Given the description of an element on the screen output the (x, y) to click on. 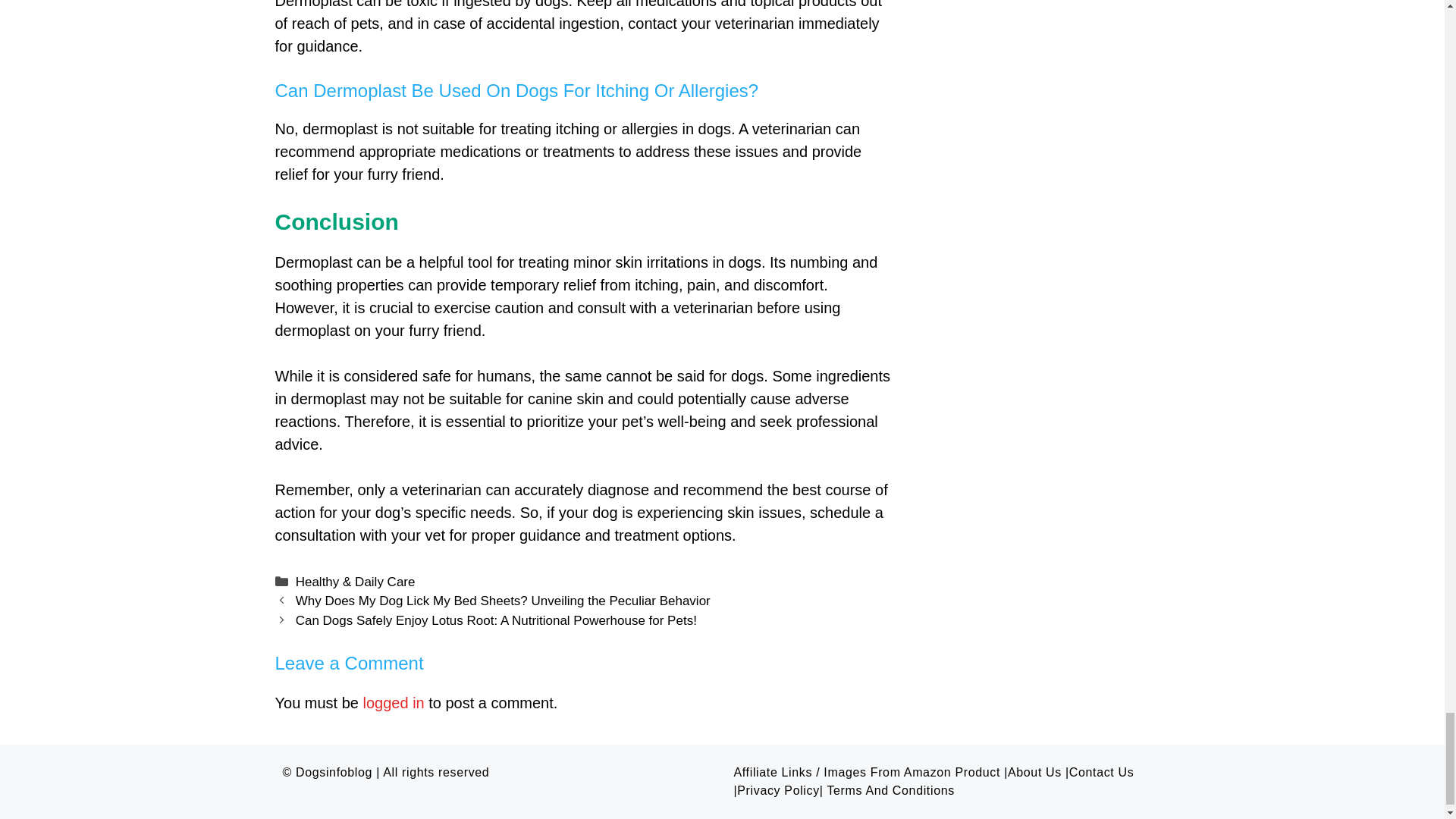
Contact Us (1101, 771)
logged in (393, 702)
Terms And Conditions (890, 789)
About Us (1034, 771)
